Given the description of an element on the screen output the (x, y) to click on. 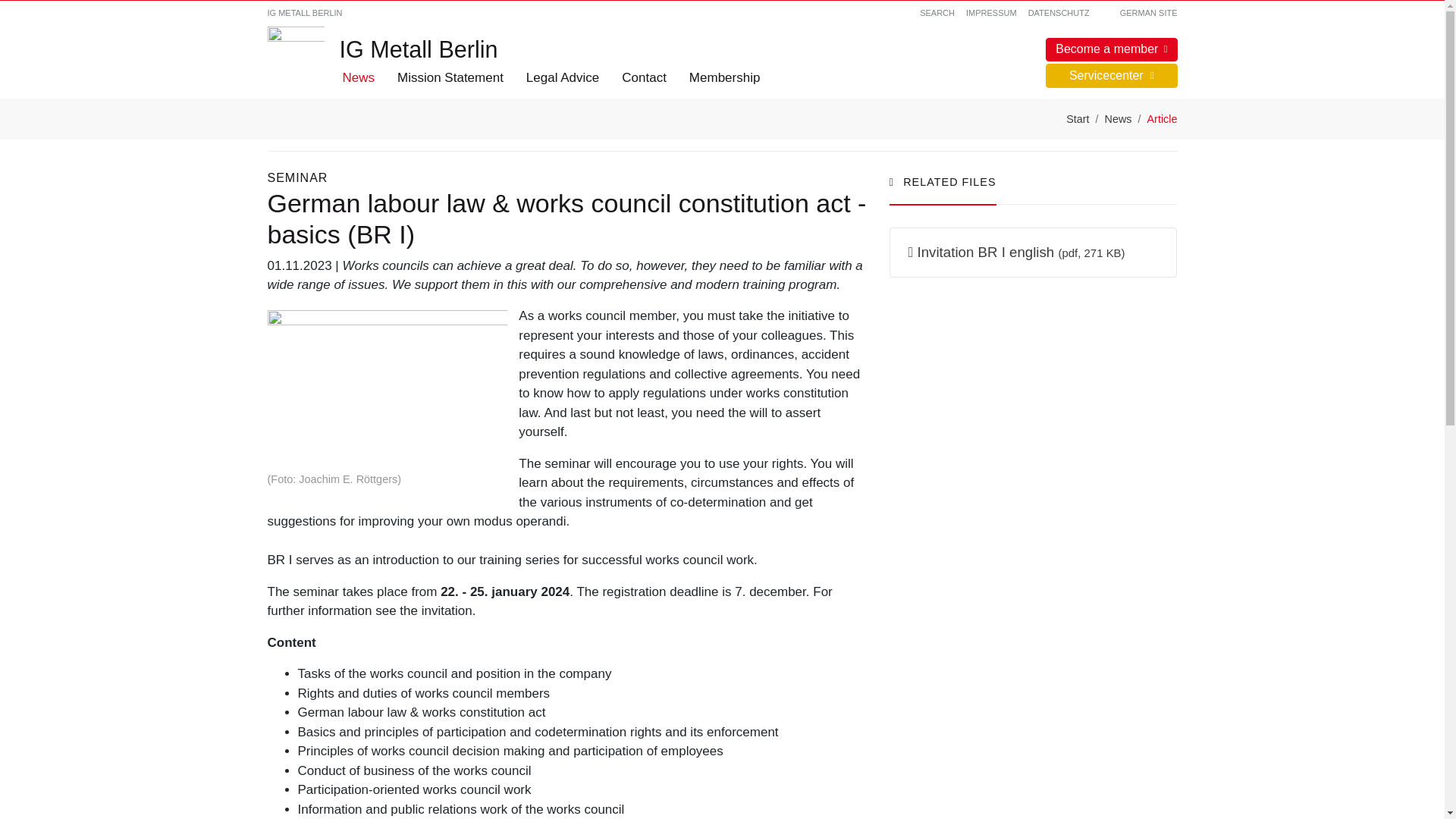
Legal Advice (562, 77)
Become a member (1110, 49)
IG METALL BERLIN (304, 12)
Start (1077, 118)
GERMAN SITE (1138, 12)
News (1118, 118)
Mission Statement (450, 77)
Membership (724, 77)
News (357, 77)
DATENSCHUTZ (1058, 12)
SEARCH (937, 12)
Contact (644, 77)
Servicecenter (1110, 75)
IMPRESSUM (991, 12)
